Given the description of an element on the screen output the (x, y) to click on. 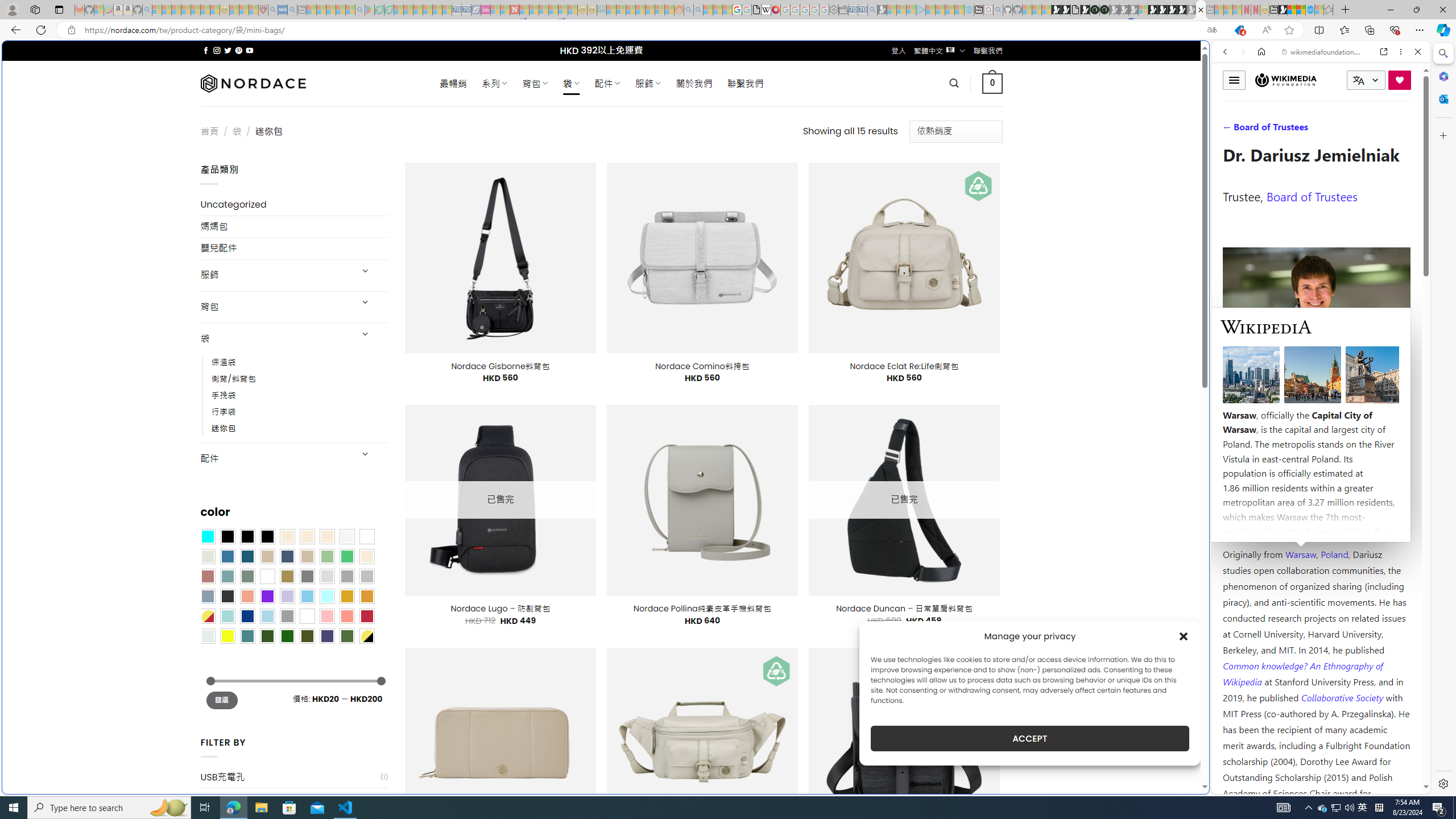
Show translate options (1212, 29)
Frequently visited (965, 151)
Microsoft Start Gaming - Sleeping (881, 9)
Pets - MSN - Sleeping (340, 9)
  0   (992, 83)
